Given the description of an element on the screen output the (x, y) to click on. 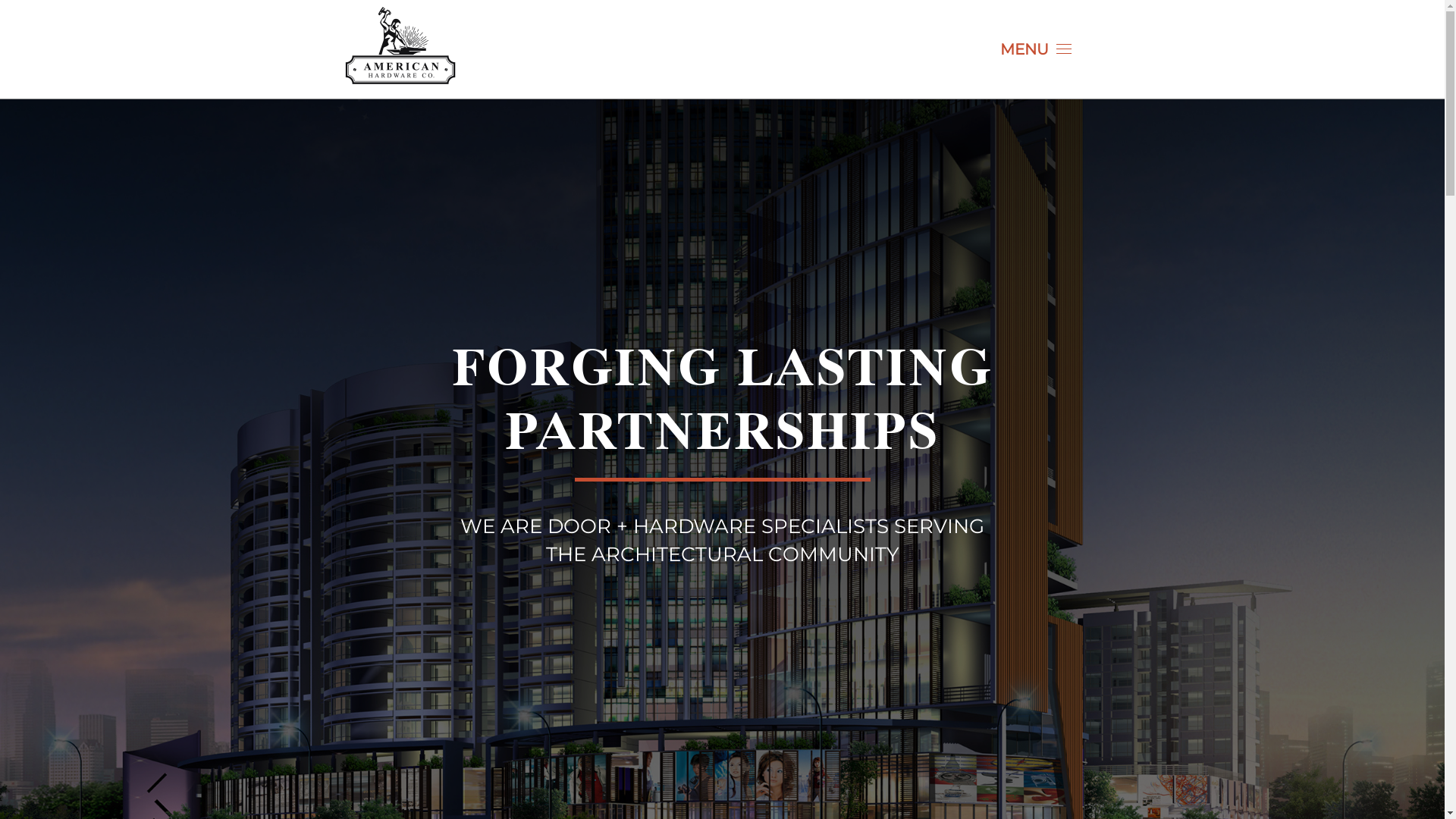
MENU Element type: text (1035, 49)
